Given the description of an element on the screen output the (x, y) to click on. 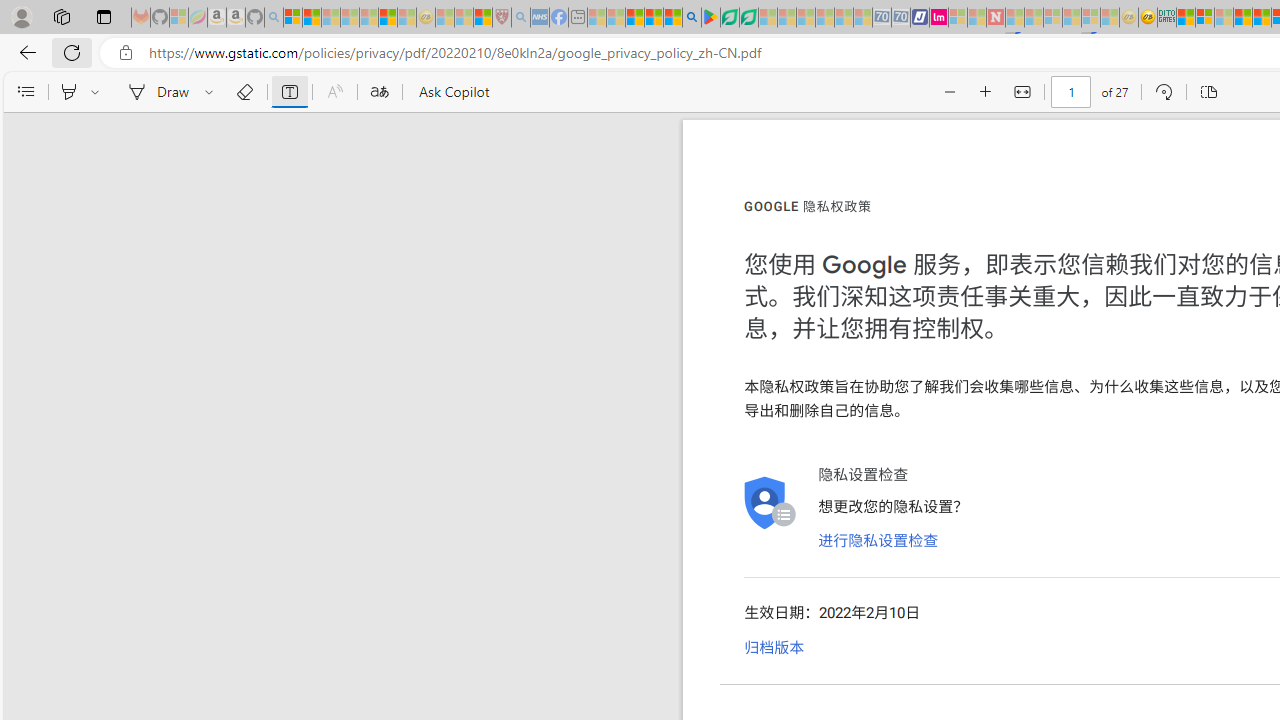
Terms of Use Agreement (729, 17)
Erase (244, 92)
Page number (1070, 92)
Expert Portfolios (1242, 17)
Local - MSN (482, 17)
